Given the description of an element on the screen output the (x, y) to click on. 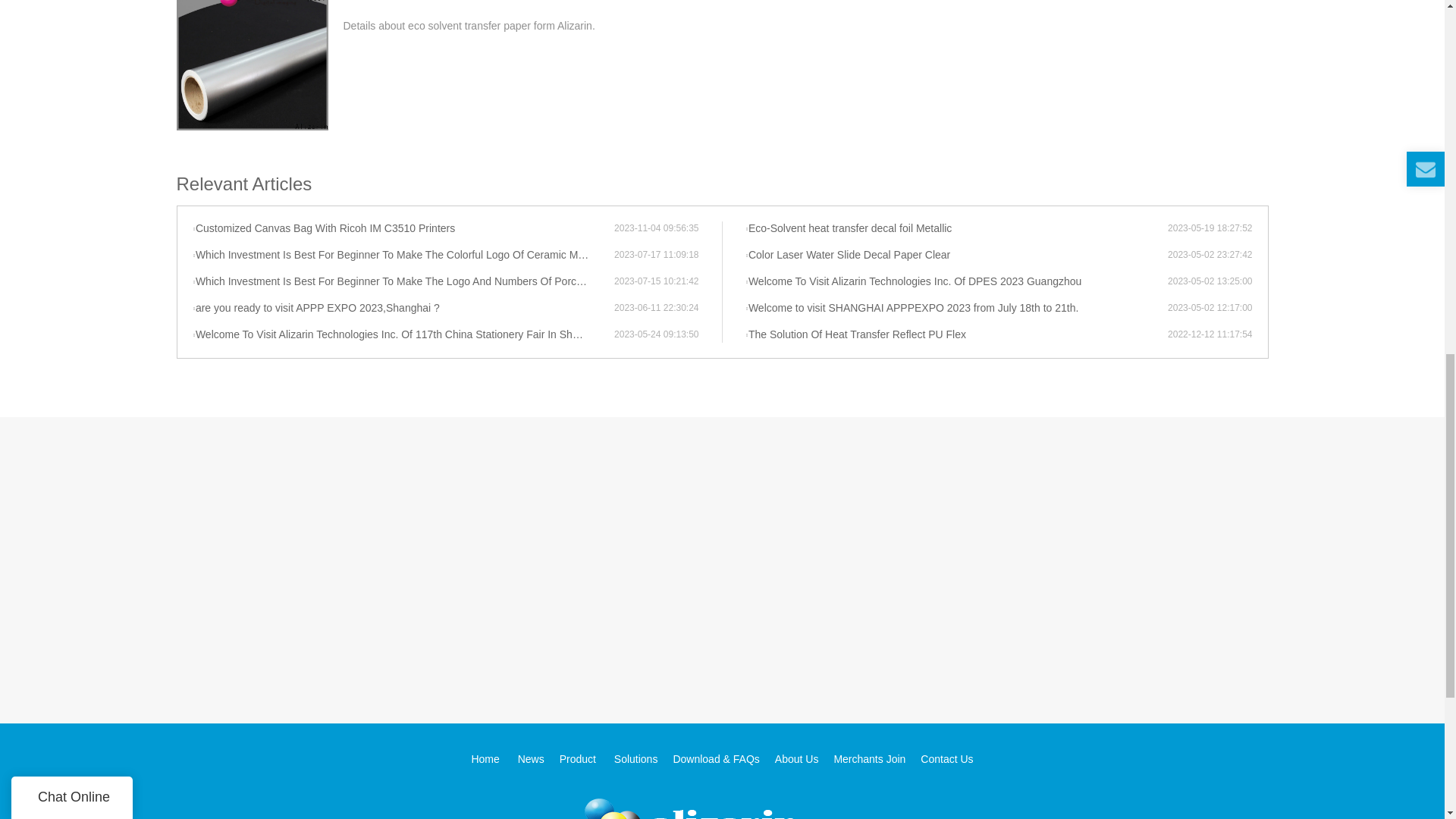
The Solution Of Heat Transfer Reflect PU Flex (955, 335)
Customized Canvas Bag With Ricoh IM C3510 Printers (403, 228)
are you ready to visit APPP EXPO 2023,Shanghai ? (403, 308)
Color Laser Water Slide Decal Paper Clear (955, 255)
Eco-Solvent heat transfer decal foil Metallic (955, 228)
